Given the description of an element on the screen output the (x, y) to click on. 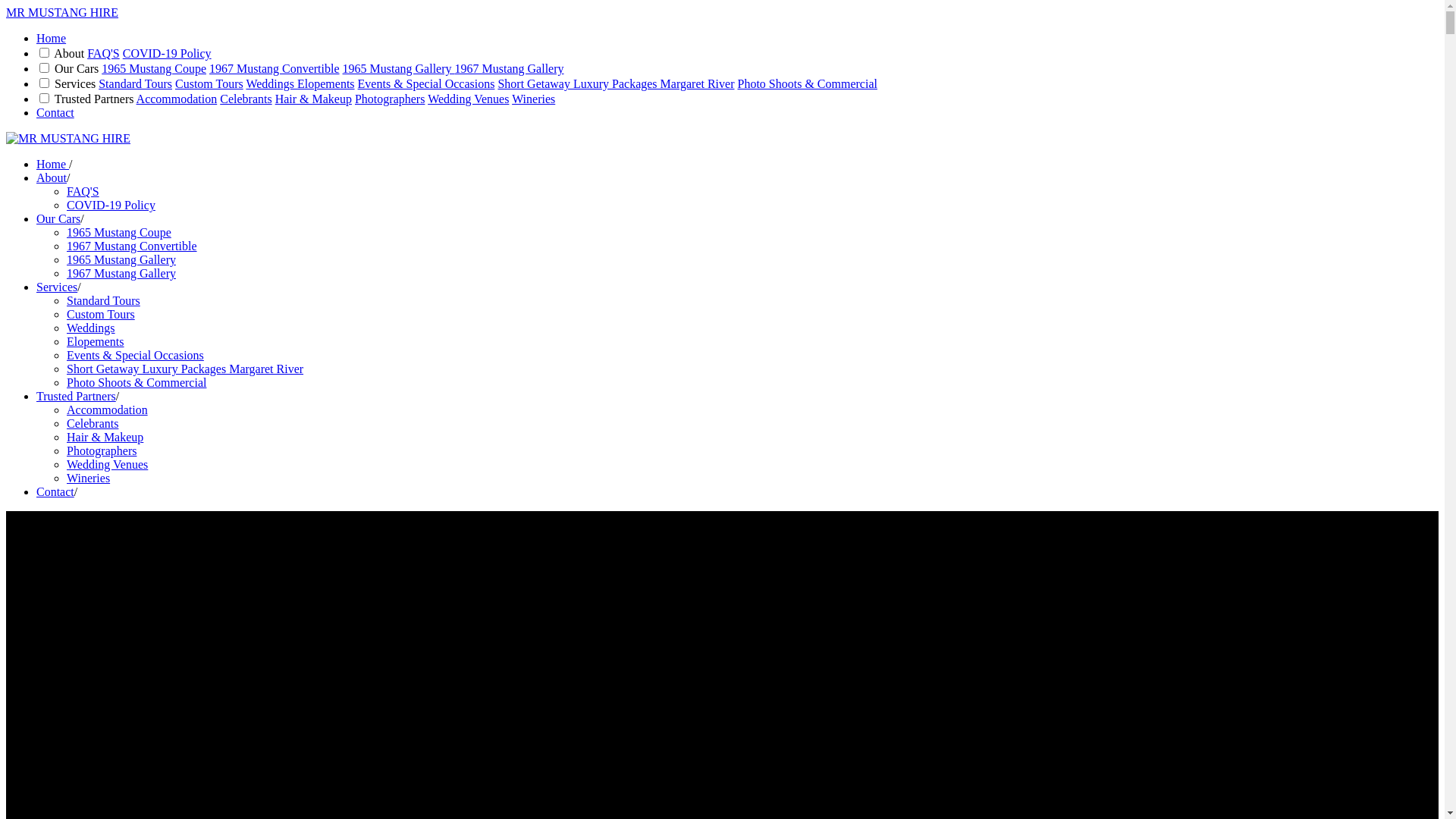
1967 Mustang Gallery Element type: text (509, 68)
1967 Mustang Convertible Element type: text (131, 245)
Custom Tours Element type: text (100, 313)
Contact Element type: text (55, 112)
Accommodation Element type: text (176, 98)
Our Cars Element type: text (58, 218)
Photo Shoots & Commercial Element type: text (806, 83)
Celebrants Element type: text (92, 423)
Home Element type: text (50, 37)
1965 Mustang Gallery Element type: text (120, 259)
1965 Mustang Coupe Element type: text (118, 231)
FAQ'S Element type: text (103, 53)
Events & Special Occasions Element type: text (134, 354)
Short Getaway Luxury Packages Margaret River Element type: text (615, 83)
Wineries Element type: text (533, 98)
Home Element type: text (52, 163)
Elopements Element type: text (95, 341)
Weddings Element type: text (271, 83)
Photographers Element type: text (389, 98)
Custom Tours Element type: text (209, 83)
Short Getaway Luxury Packages Margaret River Element type: text (184, 368)
Wineries Element type: text (87, 477)
Standard Tours Element type: text (135, 83)
Photo Shoots & Commercial Element type: text (136, 382)
Standard Tours Element type: text (103, 300)
Hair & Makeup Element type: text (313, 98)
Celebrants Element type: text (245, 98)
Wedding Venues Element type: text (106, 464)
Weddings Element type: text (90, 327)
1965 Mustang Gallery Element type: text (398, 68)
Hair & Makeup Element type: text (104, 436)
Contact Element type: text (55, 491)
Photographers Element type: text (101, 450)
1965 Mustang Coupe Element type: text (153, 68)
MR MUSTANG HIRE Element type: text (62, 12)
Wedding Venues Element type: text (467, 98)
About Element type: text (51, 177)
Accommodation Element type: text (106, 409)
1967 Mustang Convertible Element type: text (274, 68)
Elopements Element type: text (325, 83)
Services Element type: text (56, 286)
COVID-19 Policy Element type: text (110, 204)
Trusted Partners Element type: text (76, 395)
COVID-19 Policy Element type: text (166, 53)
1967 Mustang Gallery Element type: text (120, 272)
FAQ'S Element type: text (82, 191)
Events & Special Occasions Element type: text (426, 83)
